Given the description of an element on the screen output the (x, y) to click on. 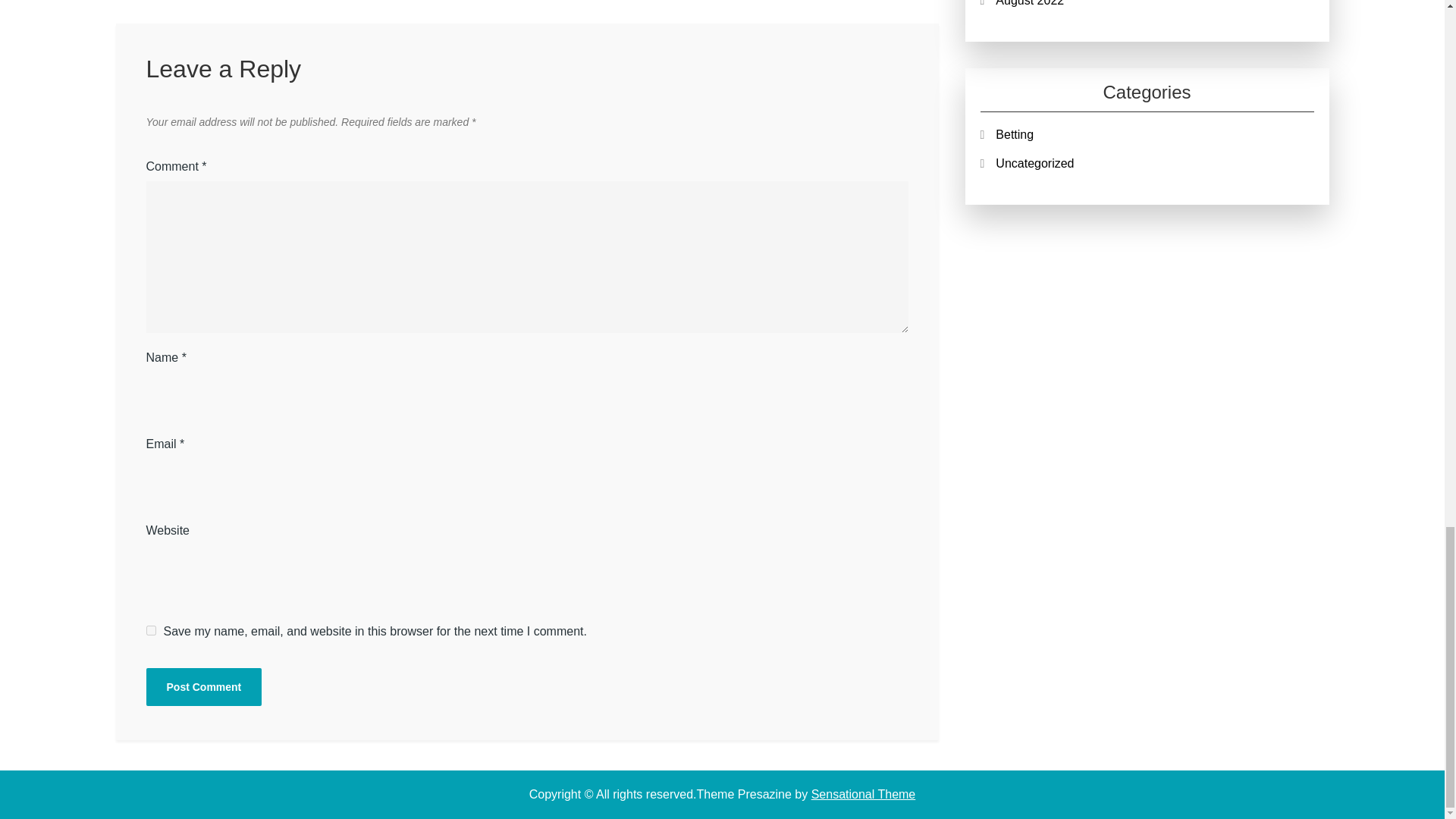
yes (150, 630)
Post Comment (203, 686)
Post Comment (203, 686)
